Given the description of an element on the screen output the (x, y) to click on. 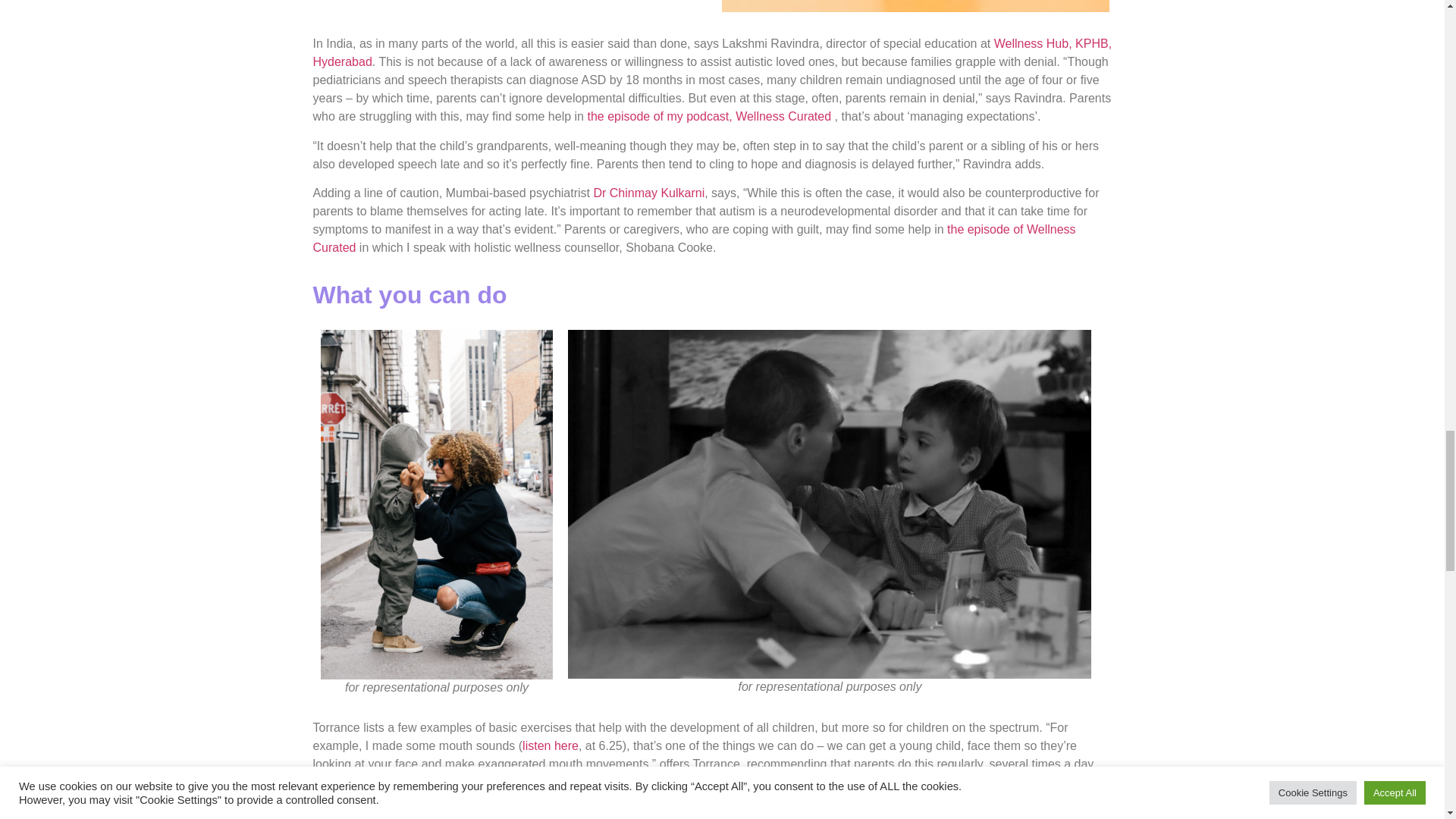
Wellness Hub, KPHB, Hyderabad (712, 51)
